Given the description of an element on the screen output the (x, y) to click on. 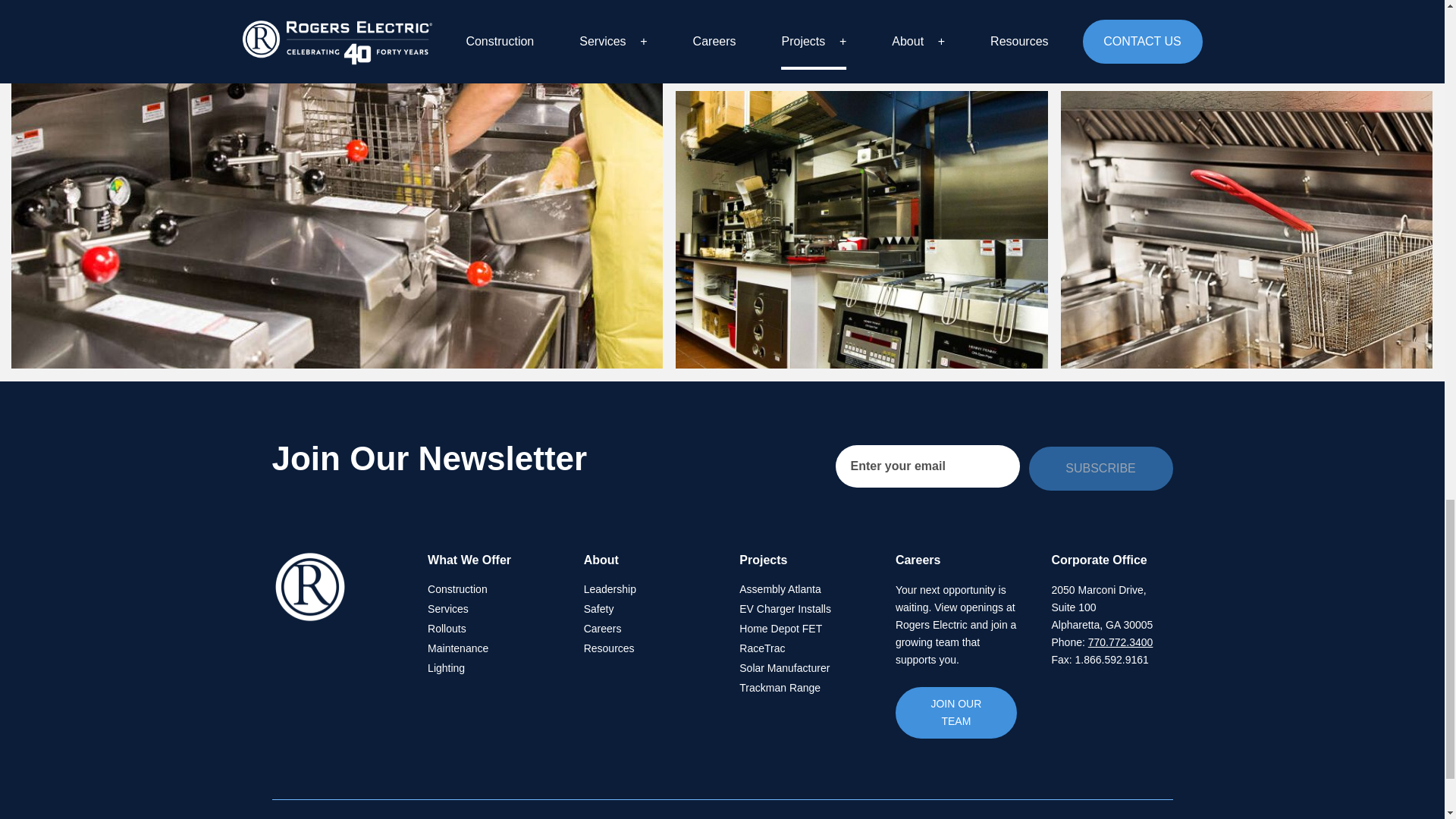
Rectangle 611-3 (862, 229)
Rectangle 611-1 (862, 38)
Subscribe (1099, 468)
